Given the description of an element on the screen output the (x, y) to click on. 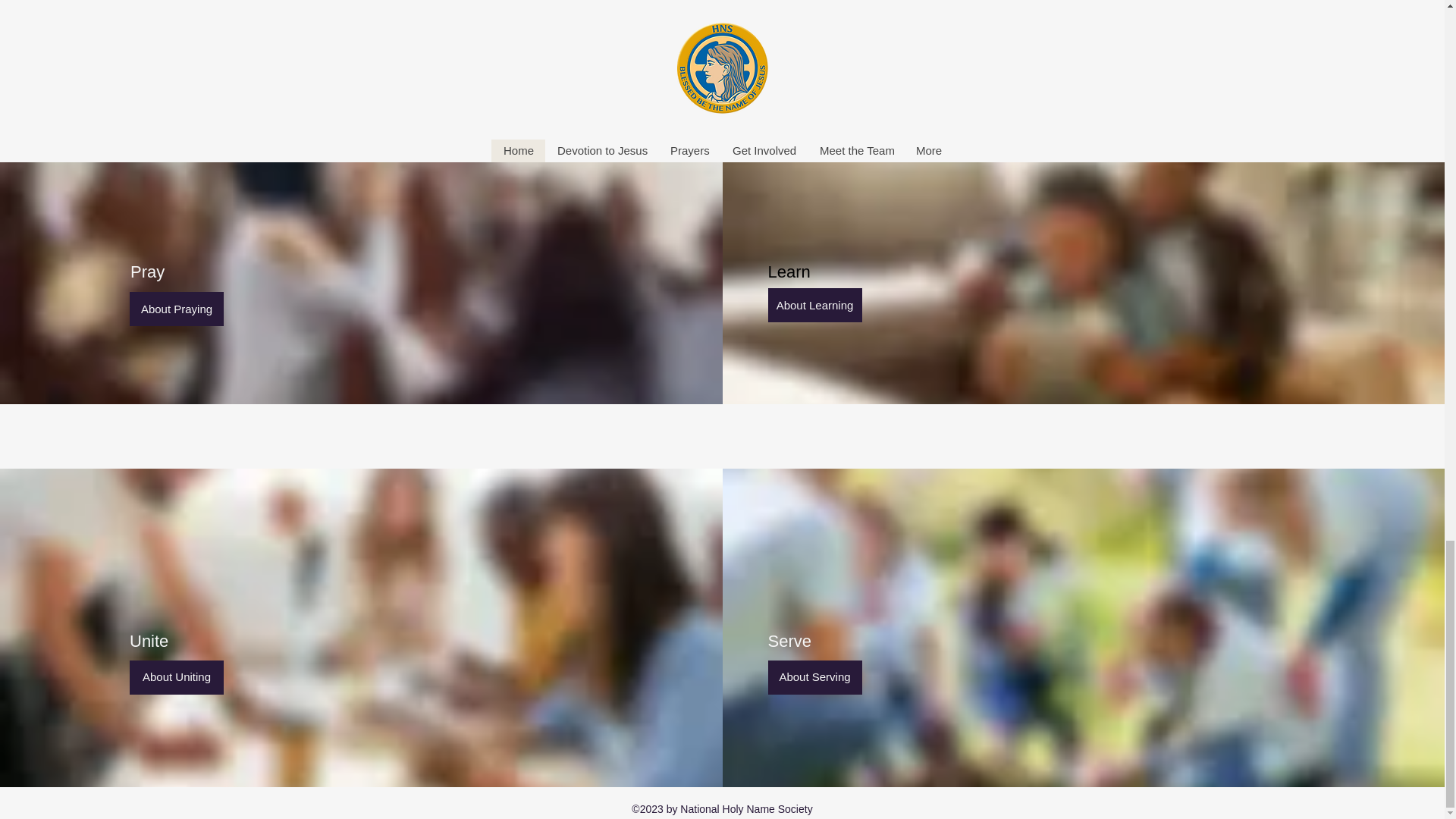
About Uniting (176, 677)
About Serving (814, 677)
About Praying (176, 308)
About Learning (814, 305)
